Given the description of an element on the screen output the (x, y) to click on. 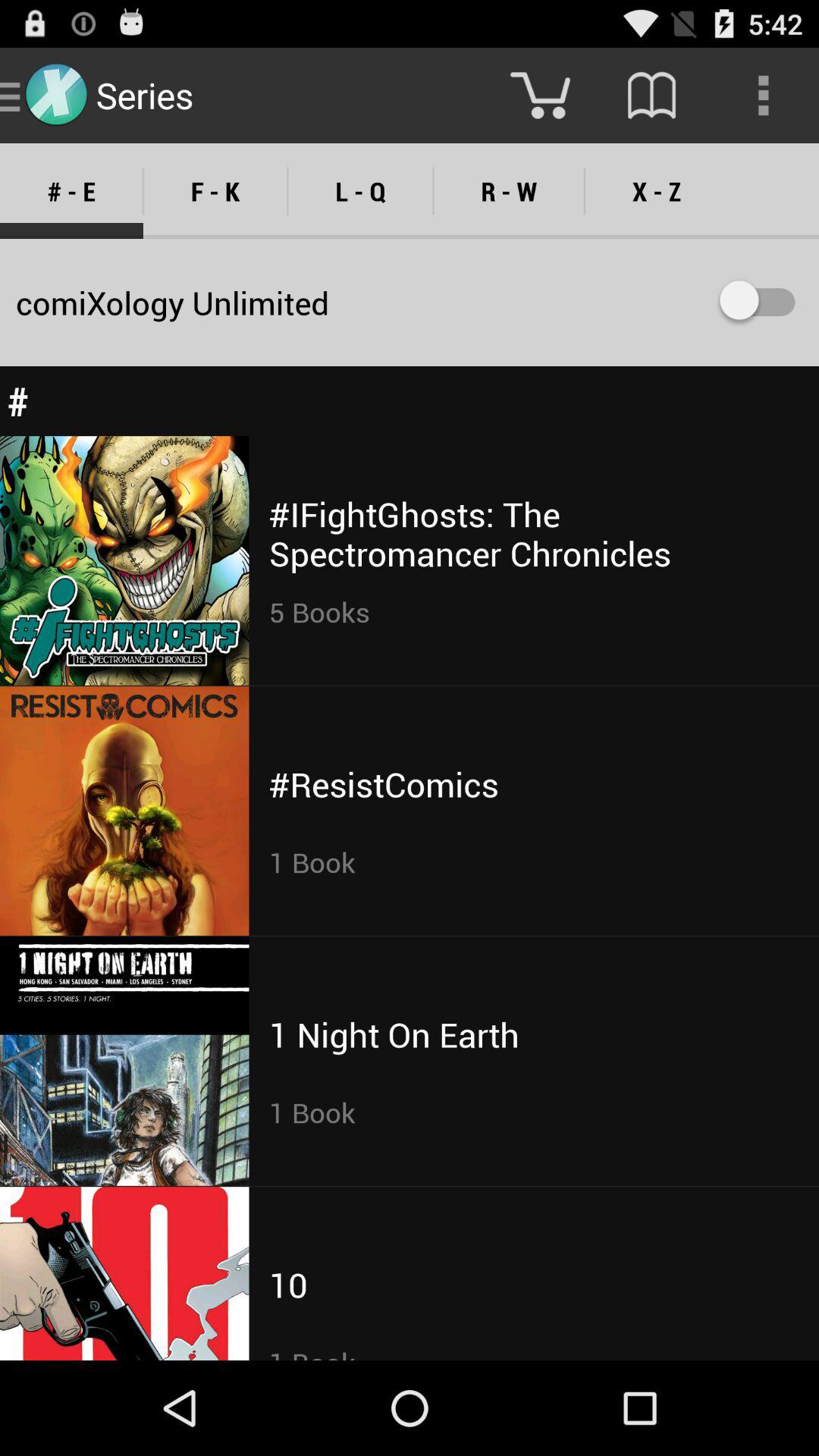
choose the item next to f - k icon (360, 190)
